Given the description of an element on the screen output the (x, y) to click on. 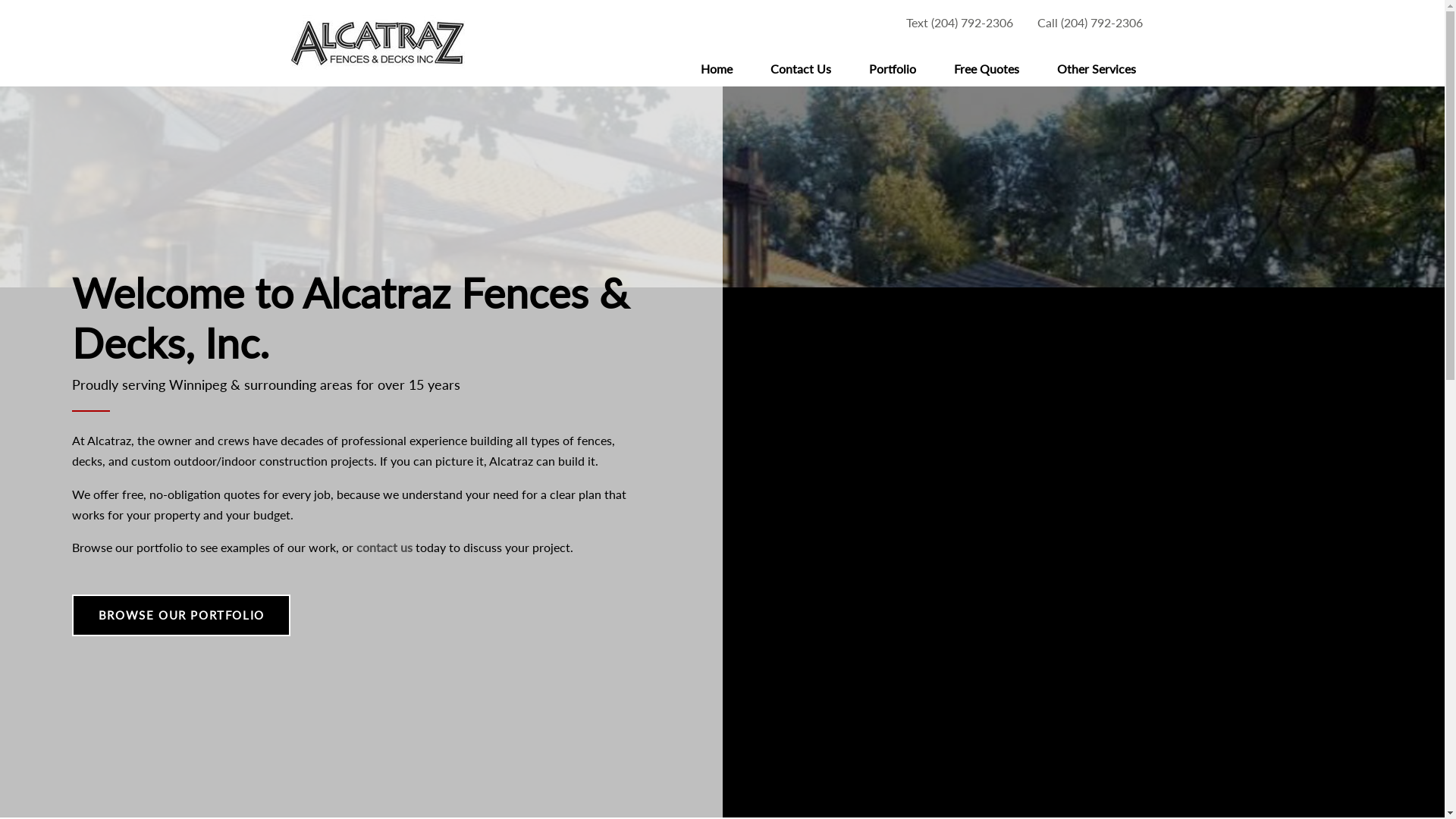
Call (204) 792-2306 Element type: text (1089, 22)
Contact Us Element type: text (799, 68)
Home Element type: text (715, 68)
contact us Element type: text (384, 546)
Other Services Element type: text (1095, 68)
BROWSE OUR PORTFOLIO Element type: text (181, 615)
Skip to main content Element type: text (721, 1)
Skip to the home page Element type: hover (376, 43)
Free Quotes Element type: text (985, 68)
Portfolio Element type: text (891, 68)
Text (204) 792-2306 Element type: text (958, 22)
